Given the description of an element on the screen output the (x, y) to click on. 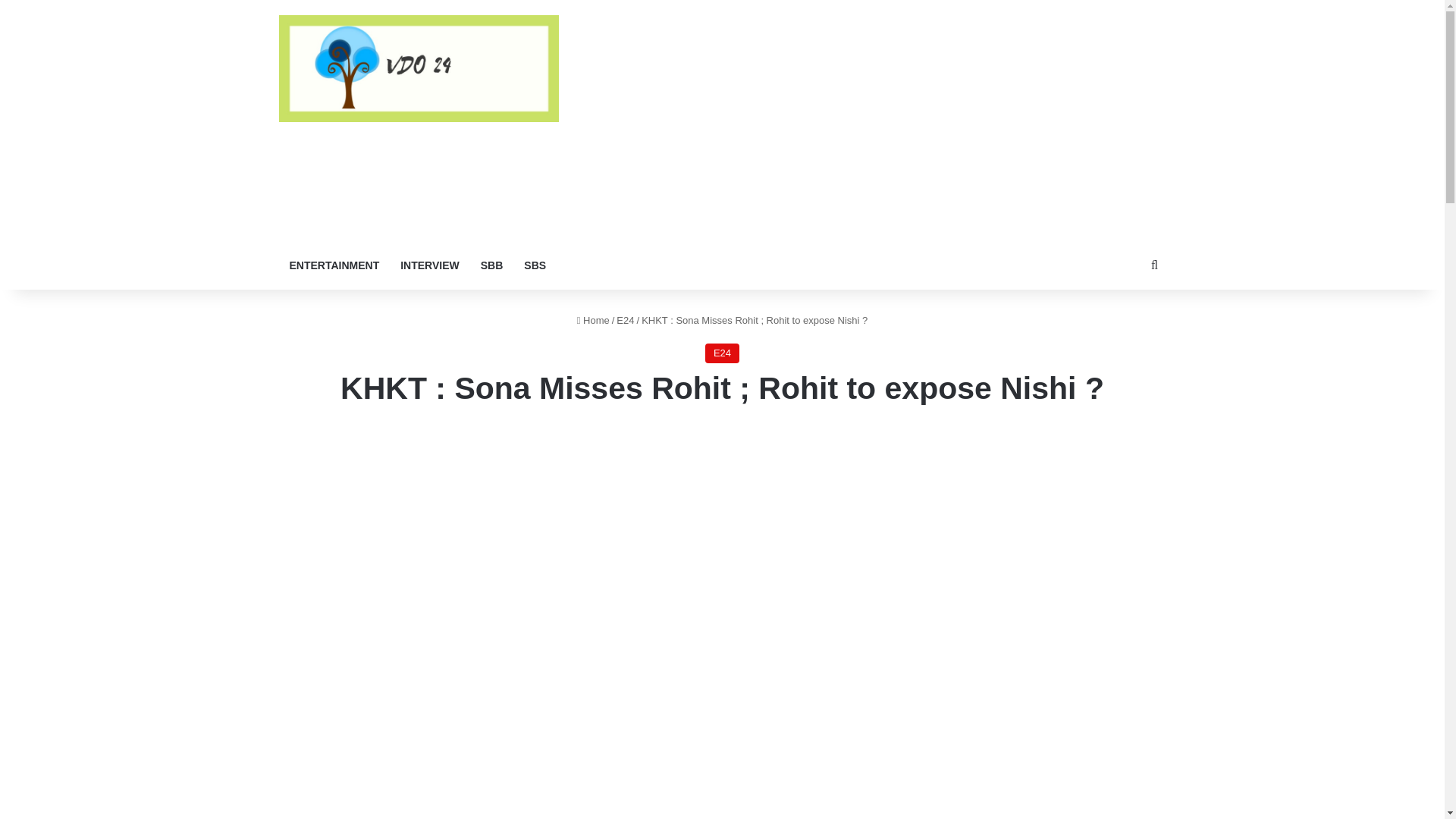
vdo24.fiction247.com (419, 68)
E24 (721, 353)
SBS (534, 265)
ENTERTAINMENT (334, 265)
E24 (624, 319)
INTERVIEW (430, 265)
Advertisement (874, 121)
Home (593, 319)
SBB (491, 265)
